Given the description of an element on the screen output the (x, y) to click on. 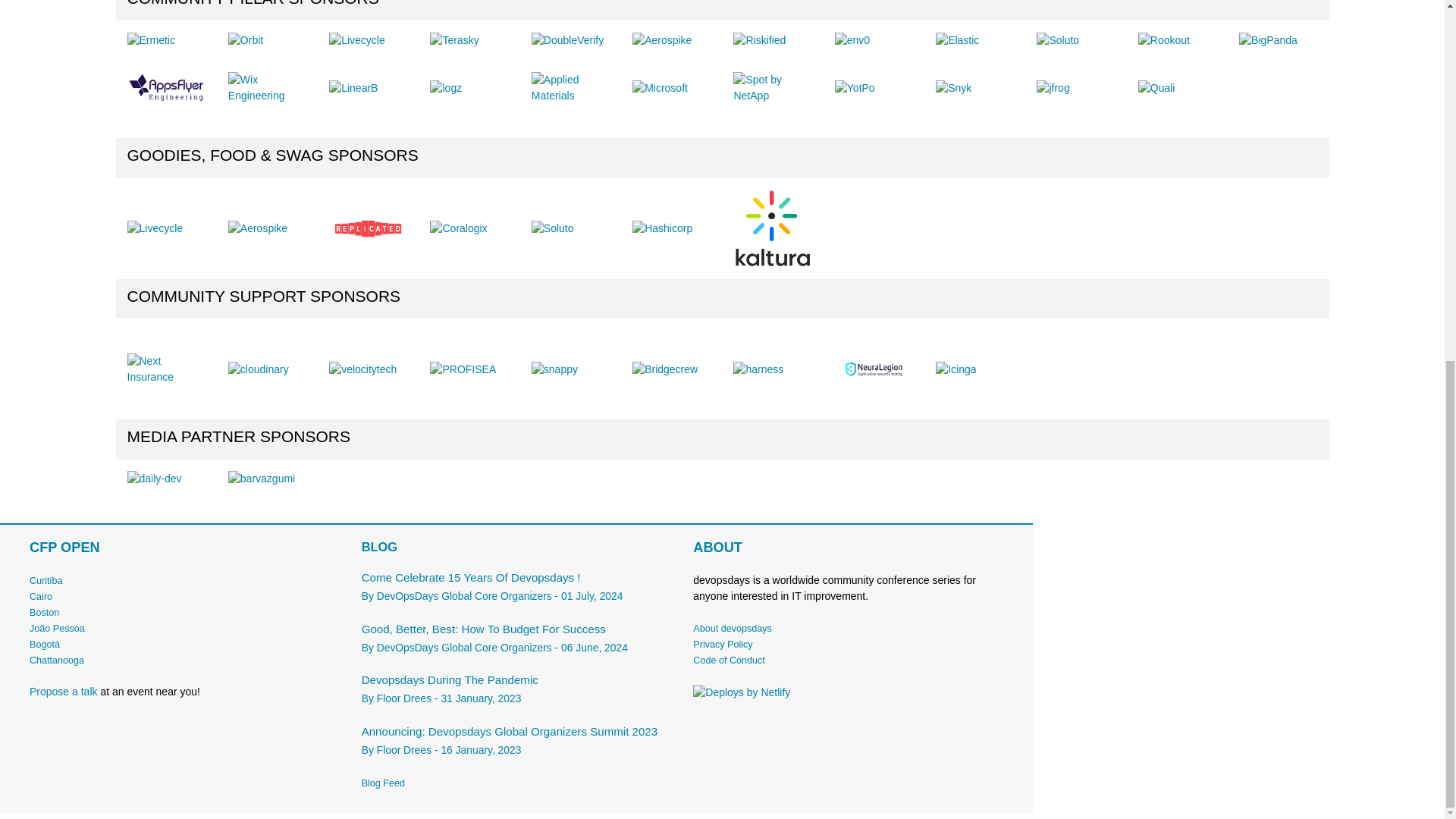
Orbit (245, 40)
Livecycle (357, 40)
Wix Engineering (266, 88)
BigPanda (1268, 40)
Terasky (454, 40)
Rookout (1163, 40)
Applied Materials (570, 88)
Ermetic (151, 40)
logz (445, 88)
Soluto (1057, 40)
DoubleVerify (567, 40)
Aerospike (661, 40)
Elastic (957, 40)
env0 (851, 40)
Riskified (759, 40)
